Given the description of an element on the screen output the (x, y) to click on. 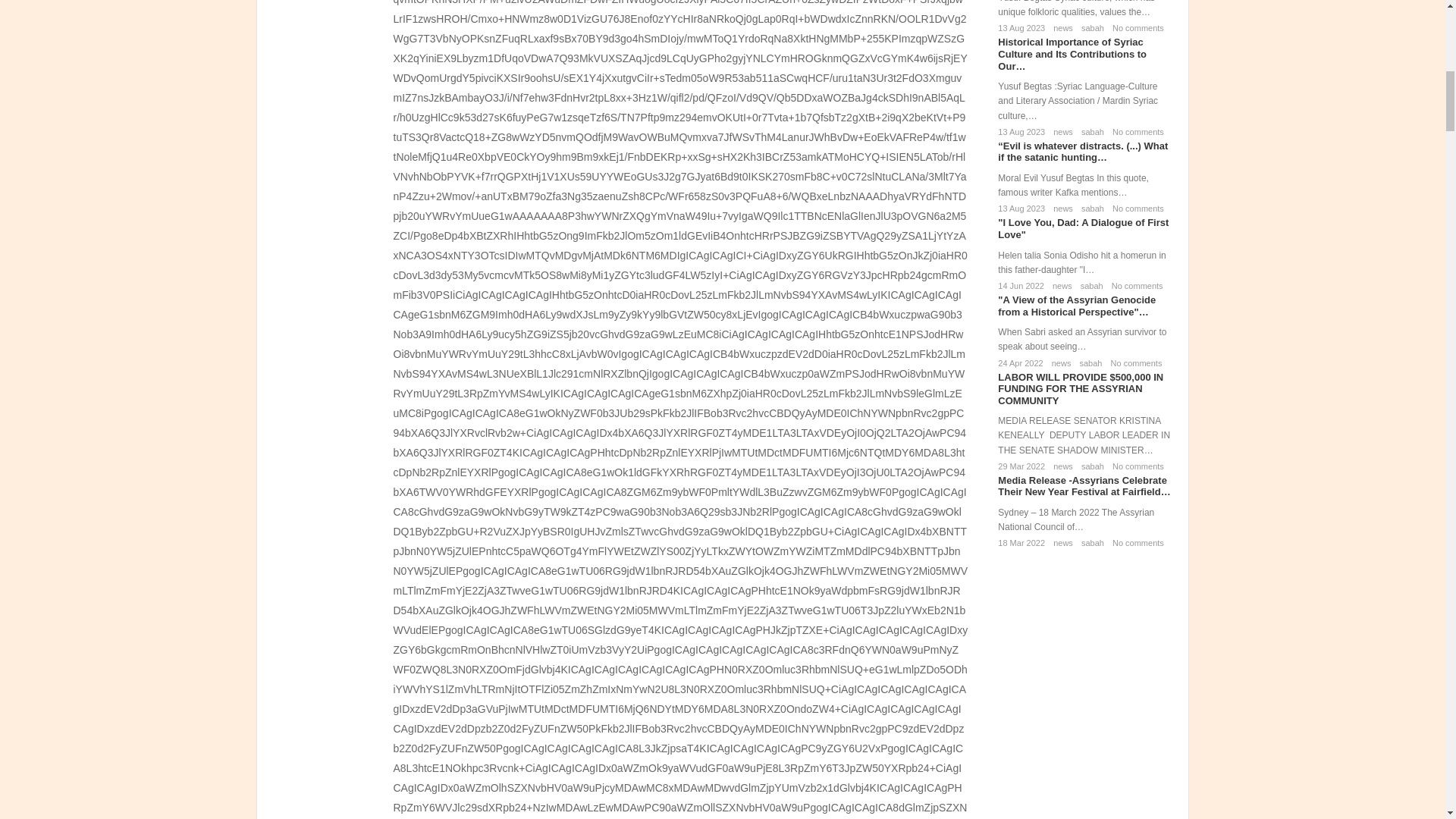
I Love You, Dad: A Dialogue of First Love (1083, 228)
